Given the description of an element on the screen output the (x, y) to click on. 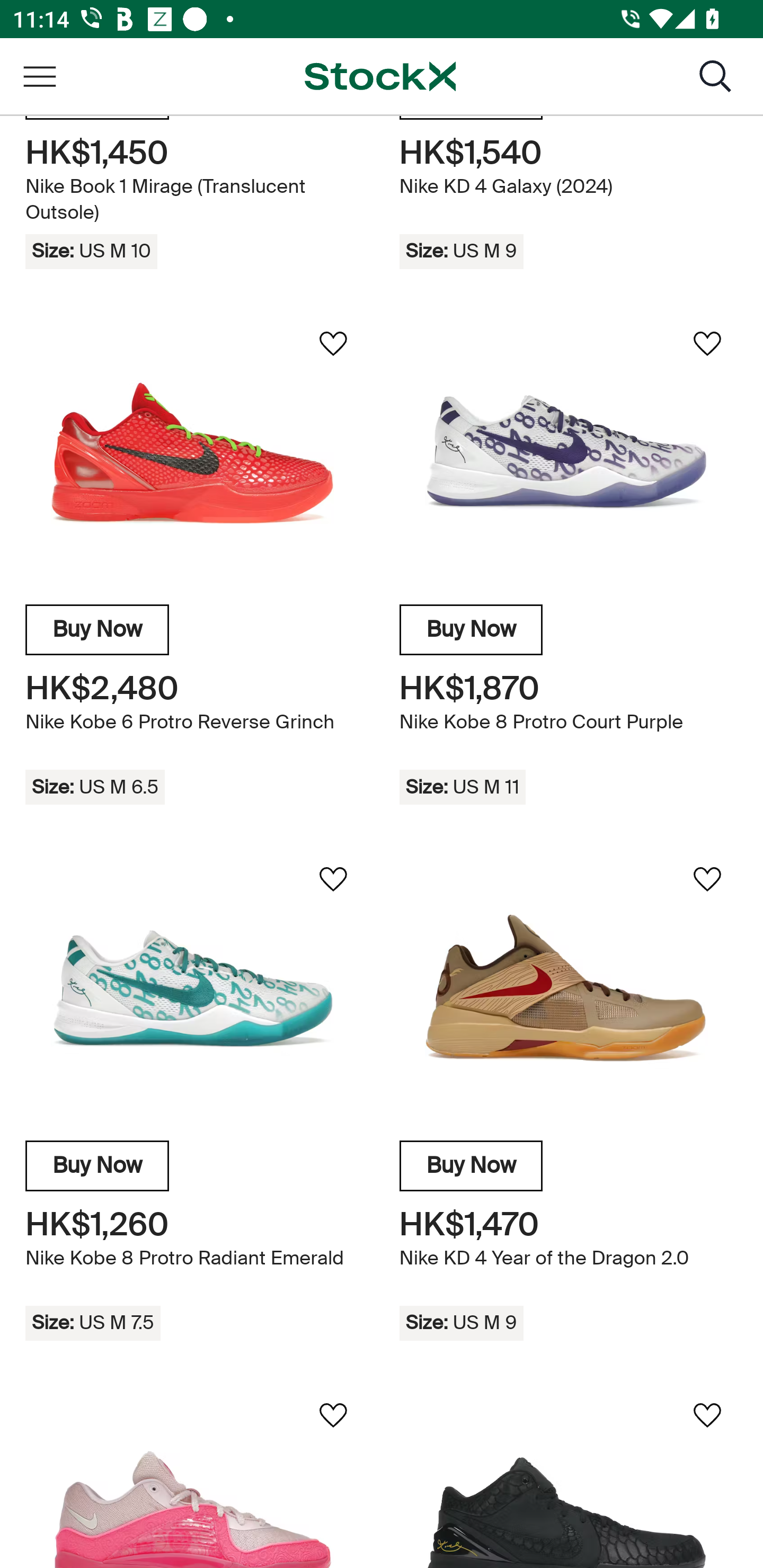
Toggle Navigation (39, 75)
StockX Logo (379, 75)
nike-kobe-6-protro-reverse-grinch?size=6 (194, 452)
nike-kobe-8-protro-court-purple?size=11 (568, 452)
Buy Now (97, 629)
Buy Now (471, 629)
nike-kobe-8-protro-radiant-emerald?size=7 (194, 988)
nike-kd-4-year-of-the-dragon-20?size=9 (568, 988)
Buy Now (97, 1165)
Buy Now (471, 1165)
nike-kd-16-aunt-pearl?size=9 (194, 1476)
nike-kobe-4-protro-gift-of-mamba?size=10 (568, 1476)
